Given the description of an element on the screen output the (x, y) to click on. 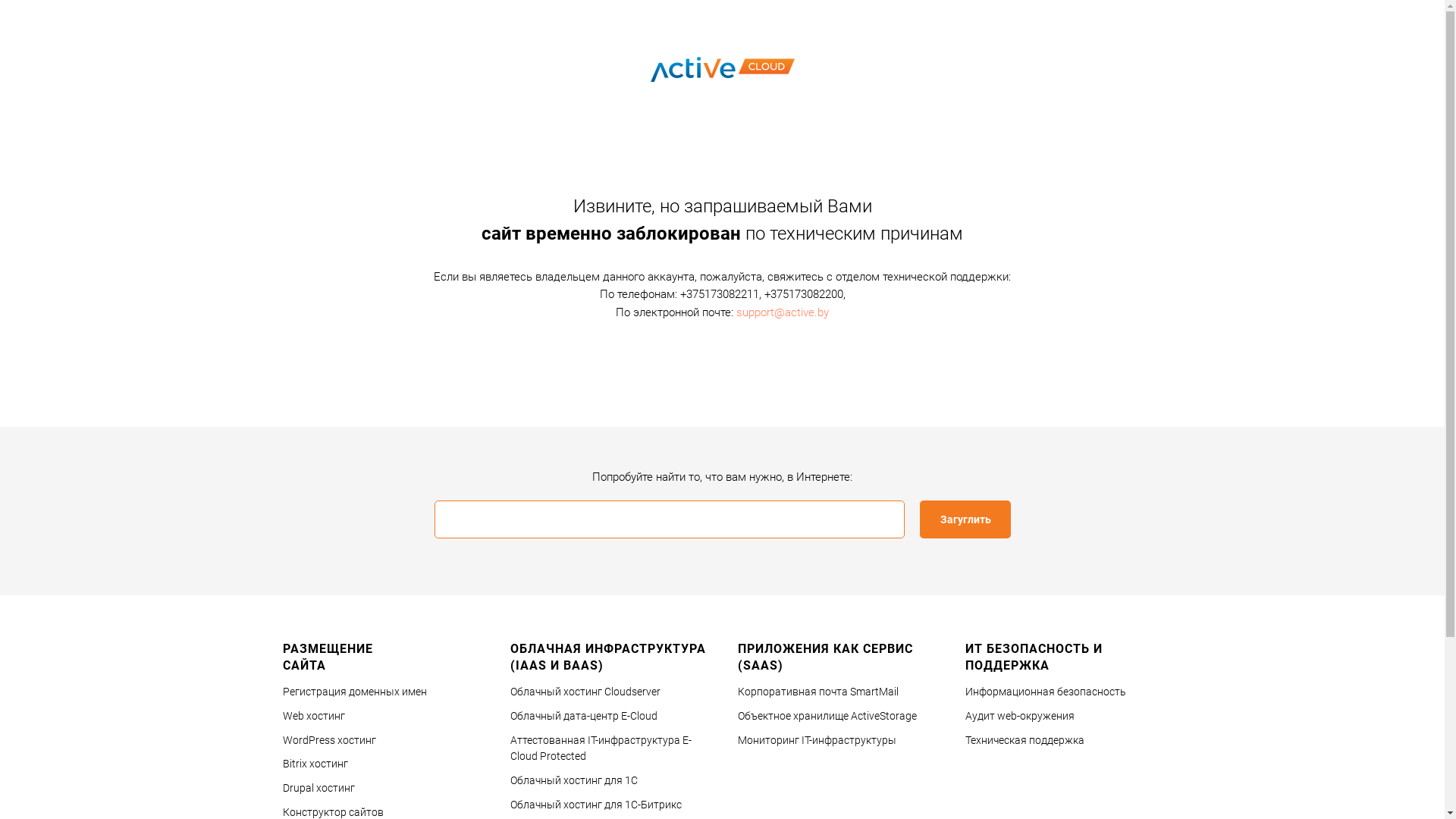
+375173082211 Element type: text (718, 294)
support@active.by Element type: text (782, 311)
+375173082200 Element type: text (803, 294)
